Given the description of an element on the screen output the (x, y) to click on. 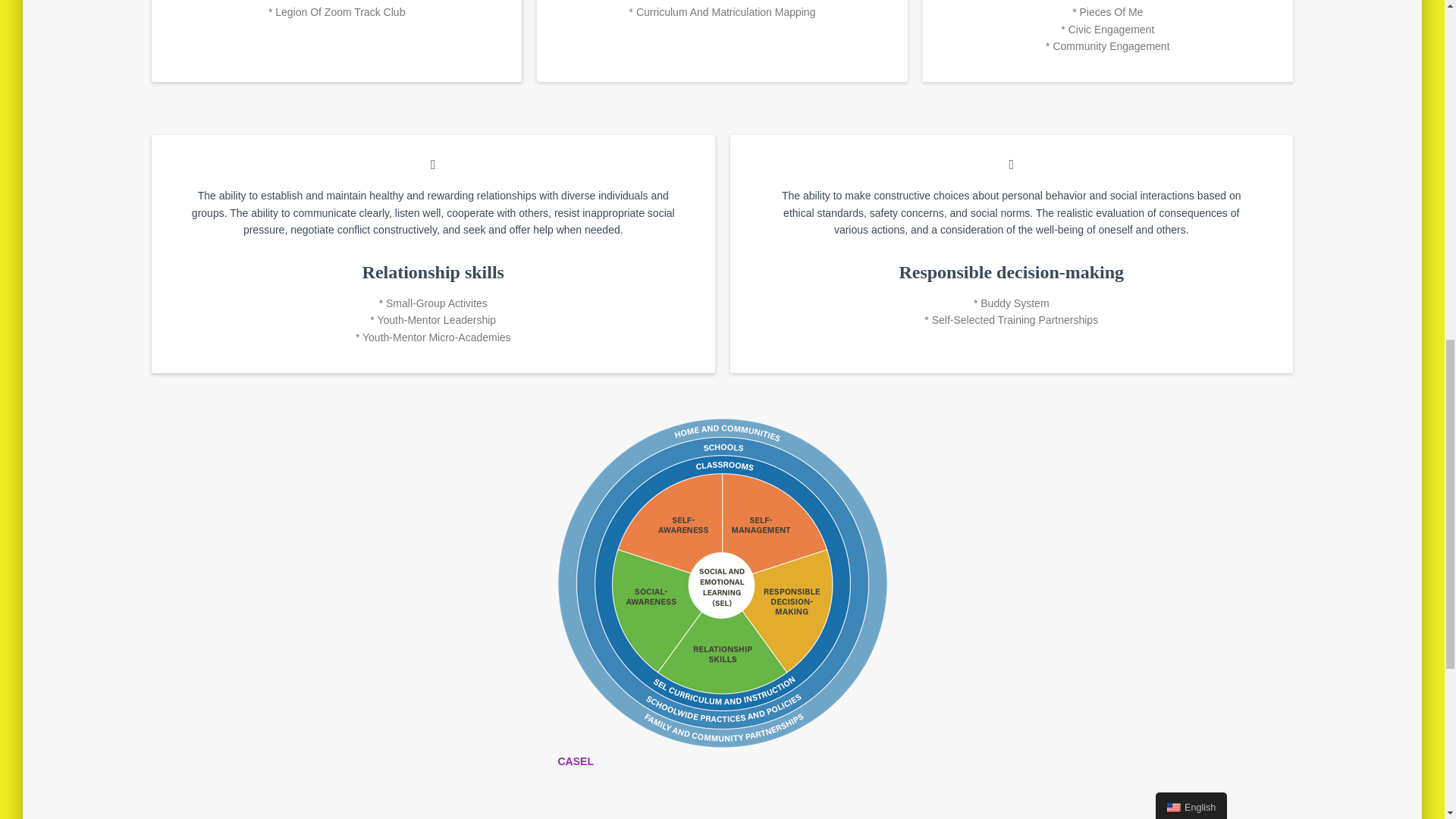
CASEL (575, 761)
